Given the description of an element on the screen output the (x, y) to click on. 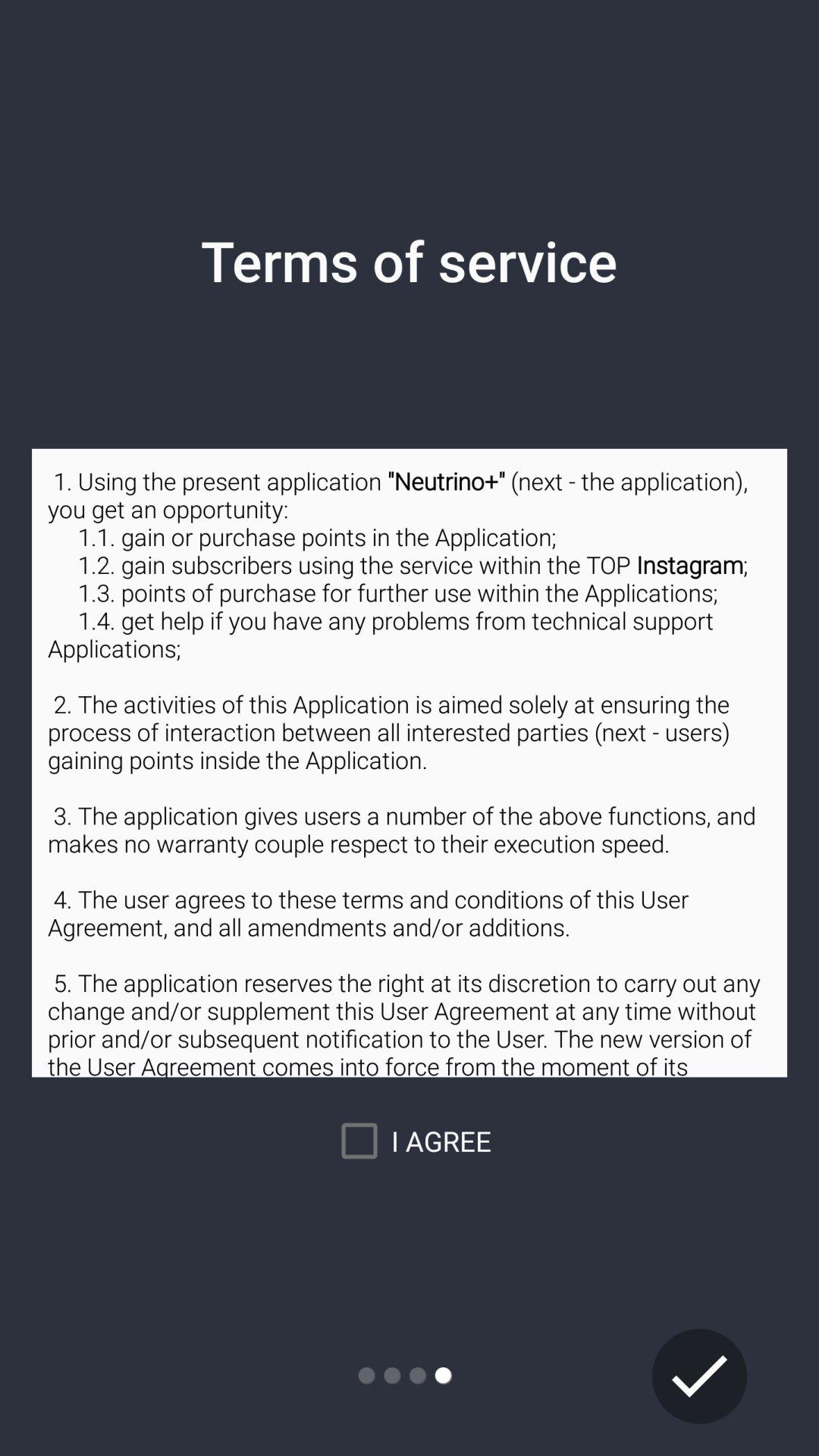
select icon below the 1 using the (699, 1376)
